Given the description of an element on the screen output the (x, y) to click on. 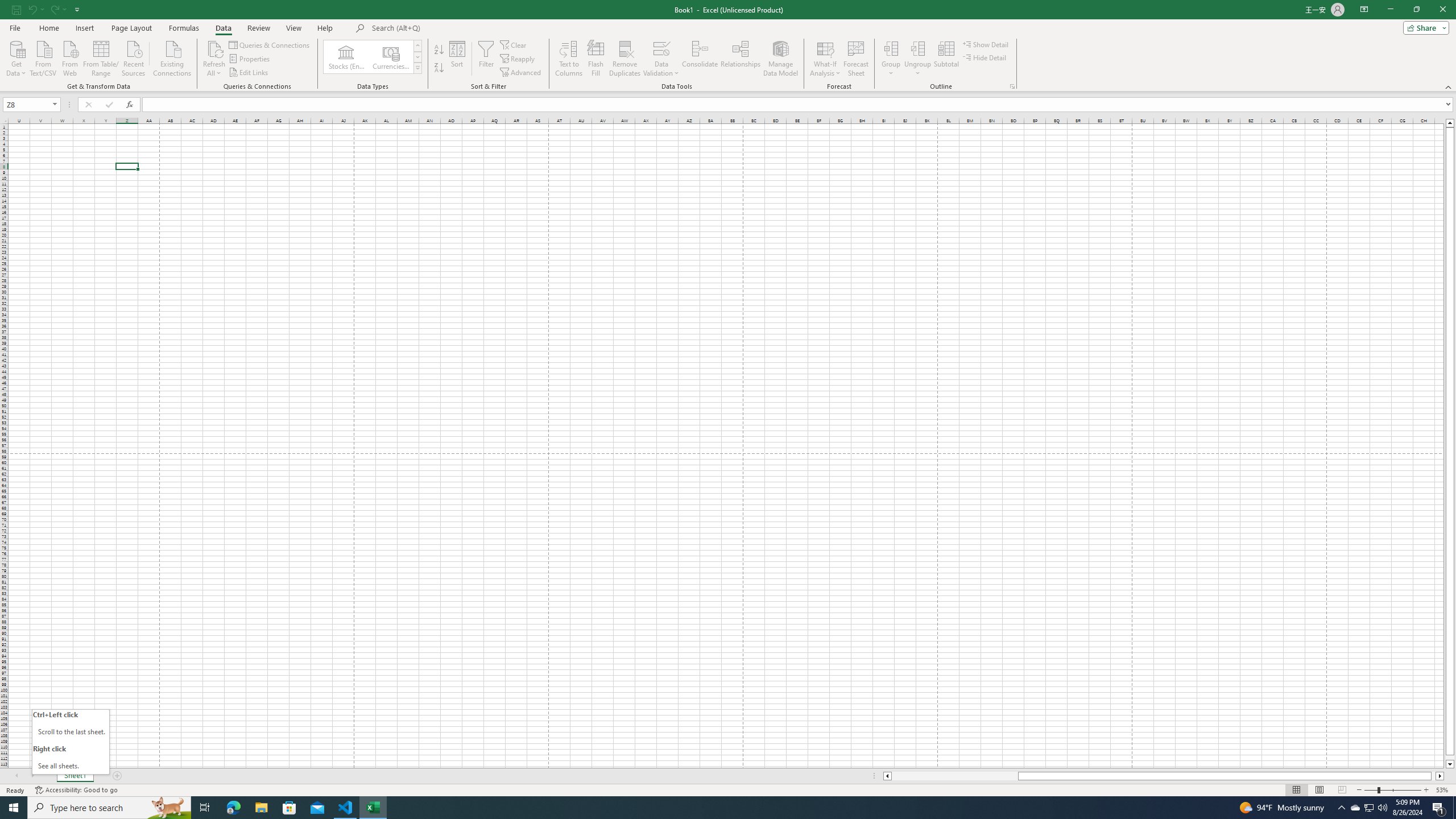
AutomationID: ConvertToLinkedEntity (372, 56)
Reapply (517, 58)
